Given the description of an element on the screen output the (x, y) to click on. 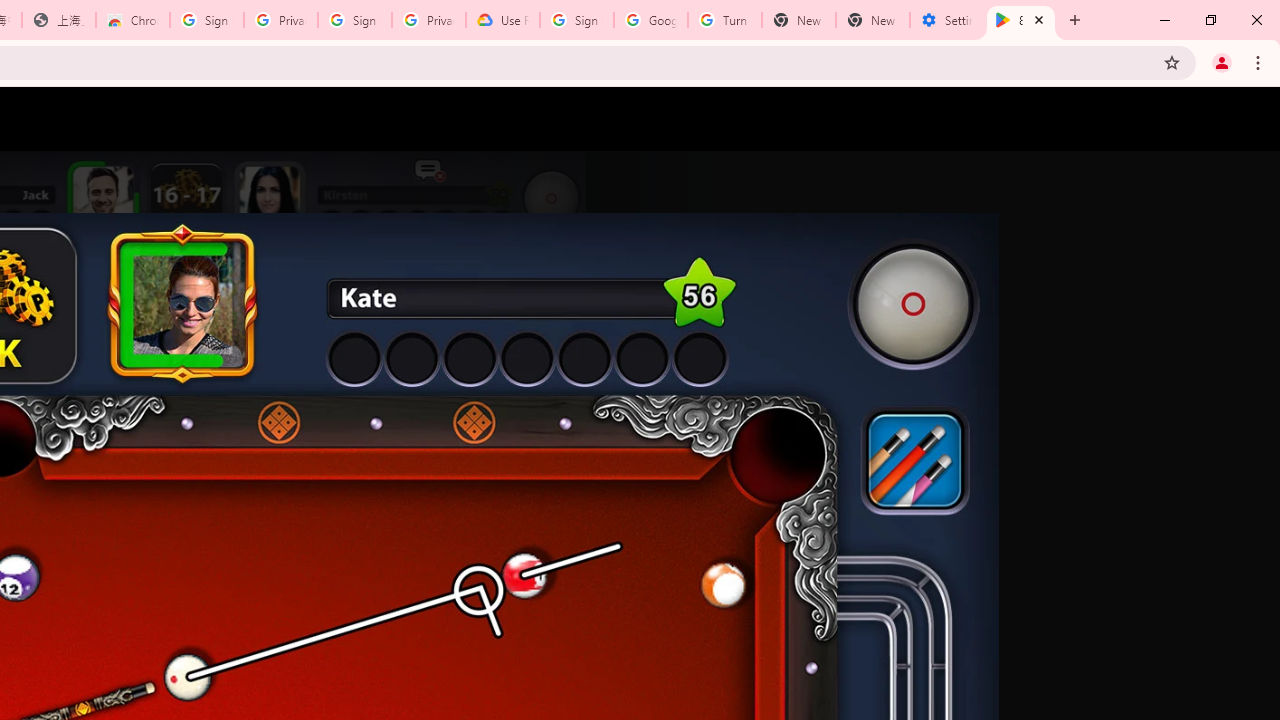
Chrome Web Store - Color themes by Chrome (133, 20)
Help Center (1197, 119)
Search (1149, 119)
